Given the description of an element on the screen output the (x, y) to click on. 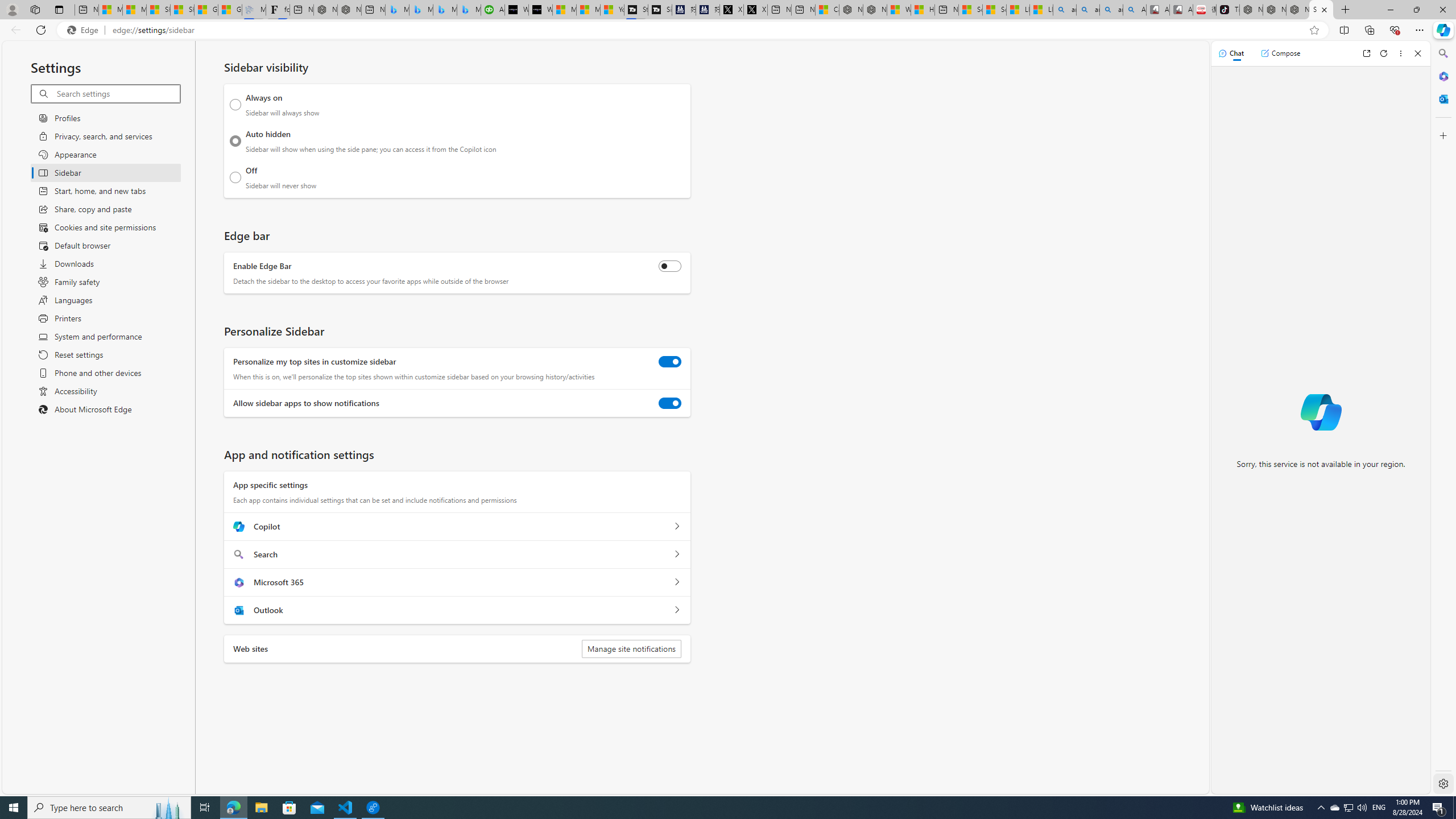
Outlook (1442, 98)
Nordace Siena Pro 15 Backpack (1274, 9)
Nordace - Siena Pro 15 Essential Set (1297, 9)
Always on Sidebar will always show (235, 104)
Accounting Software for Accountants, CPAs and Bookkeepers (492, 9)
Huge shark washes ashore at New York City beach | Watch (922, 9)
